Given the description of an element on the screen output the (x, y) to click on. 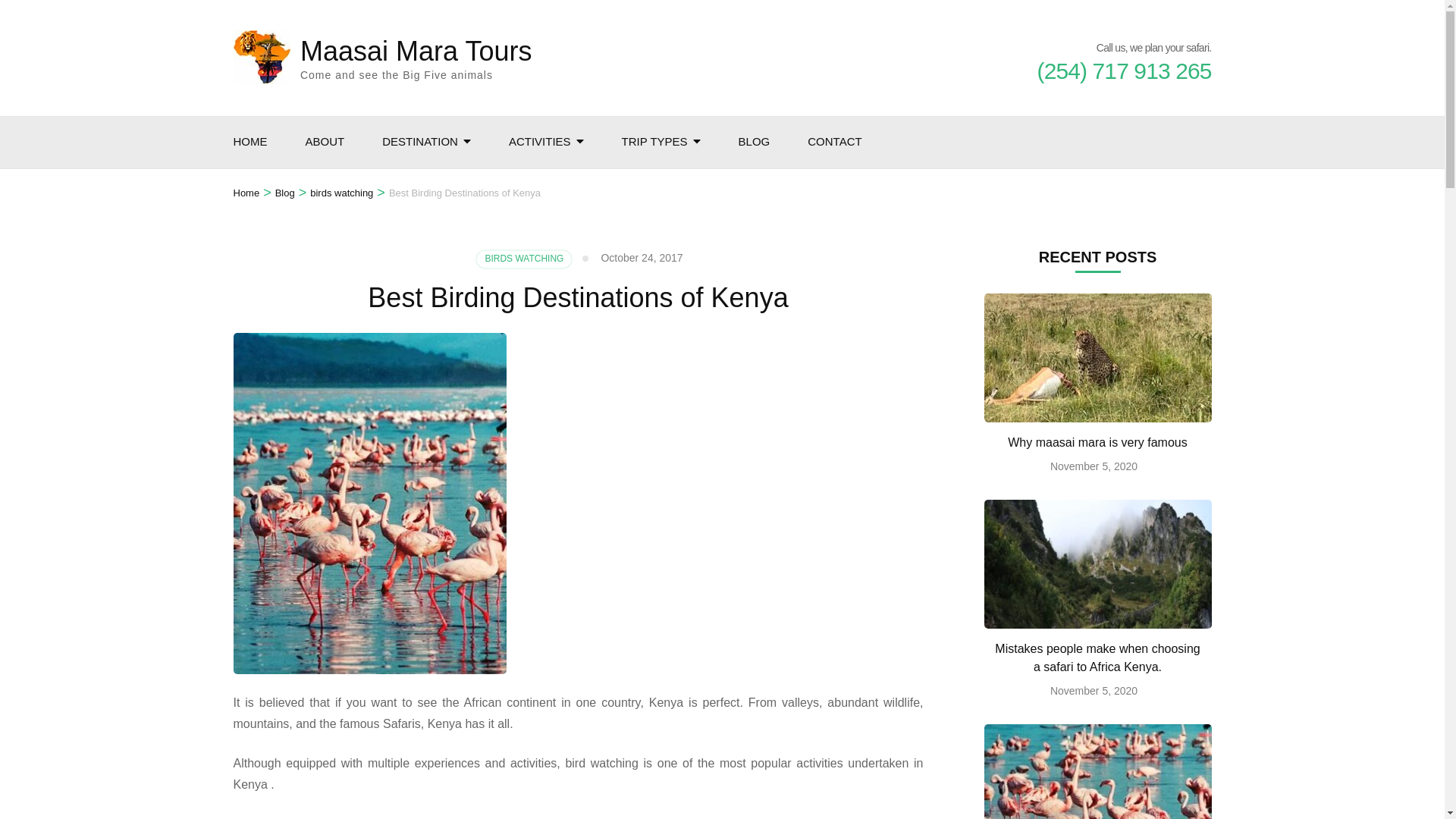
DESTINATION (419, 142)
Mara Five 300x170 (1097, 357)
Cropped Lake Nakuru One 300x170 (1097, 771)
Maasai Mara Tours (415, 51)
Cropped Mountains G98dbe08a5 1280 300x170 (1097, 563)
